Given the description of an element on the screen output the (x, y) to click on. 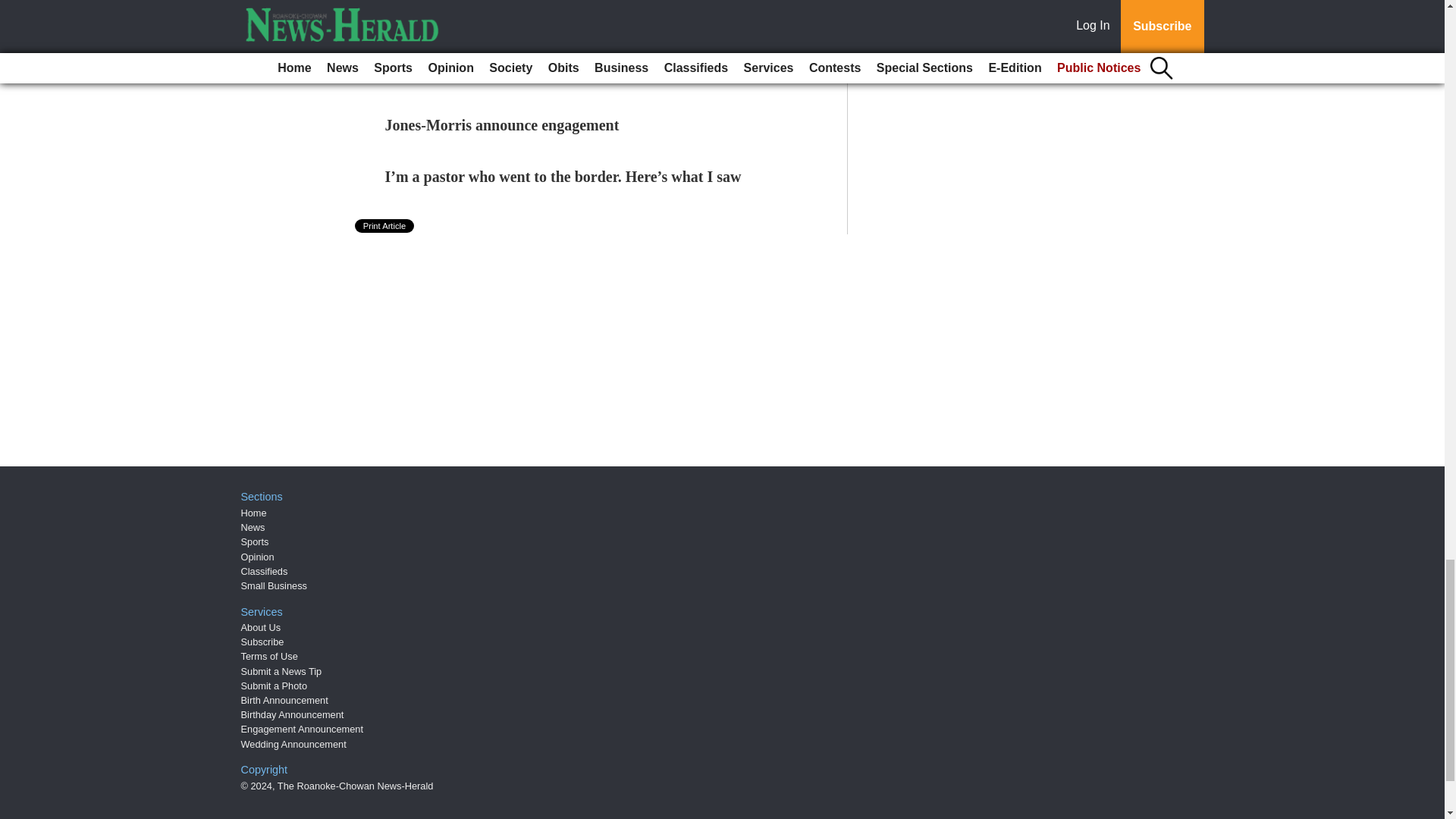
Print Article (384, 225)
Zeta Phi Beta Sorority inducts new members (530, 21)
Jones-Morris announce engagement (502, 125)
Zeta Phi Beta Sorority inducts new members (530, 21)
Jones-Morris announce engagement (502, 125)
